Given the description of an element on the screen output the (x, y) to click on. 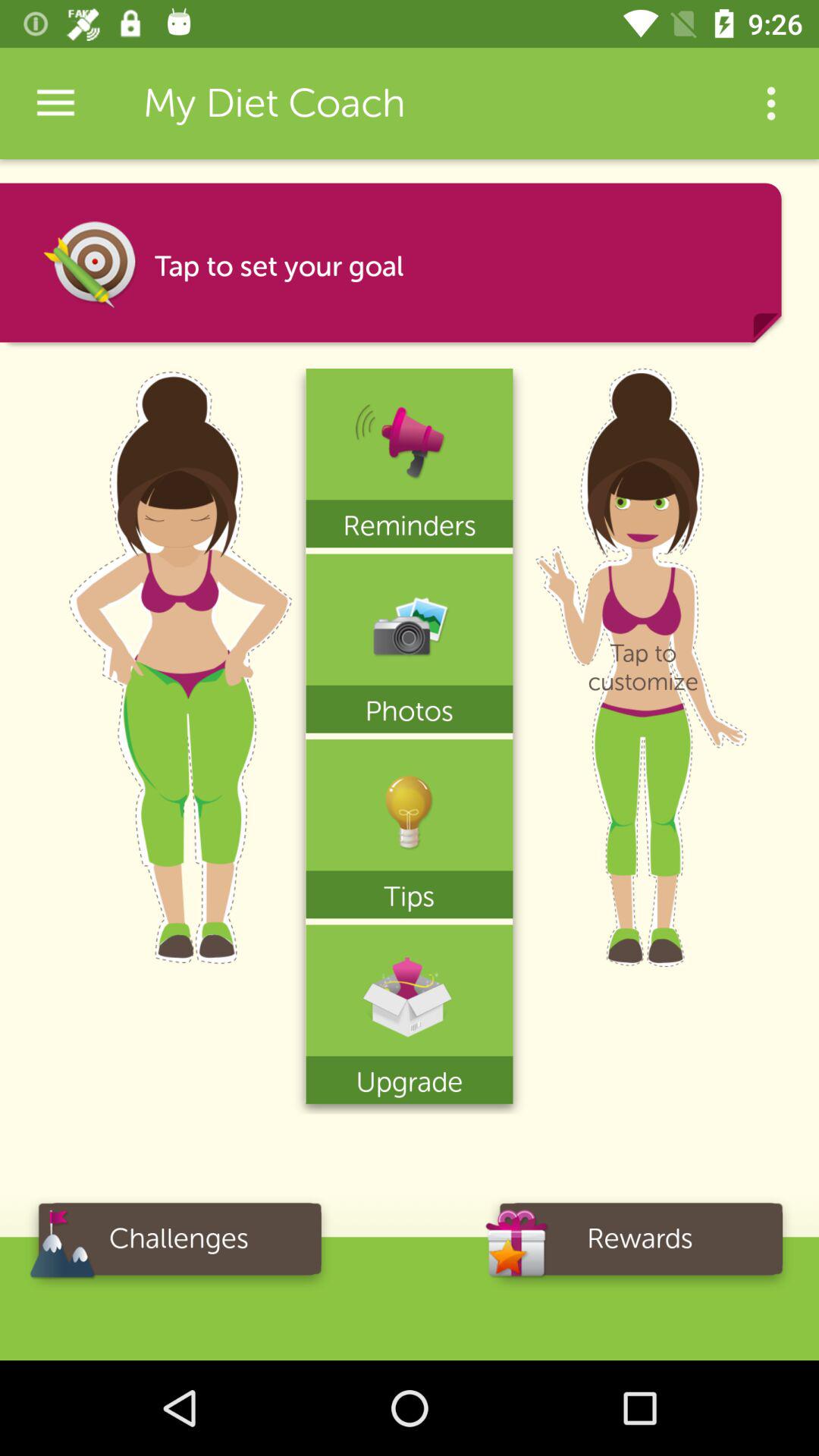
swipe until the challenges item (178, 1243)
